Given the description of an element on the screen output the (x, y) to click on. 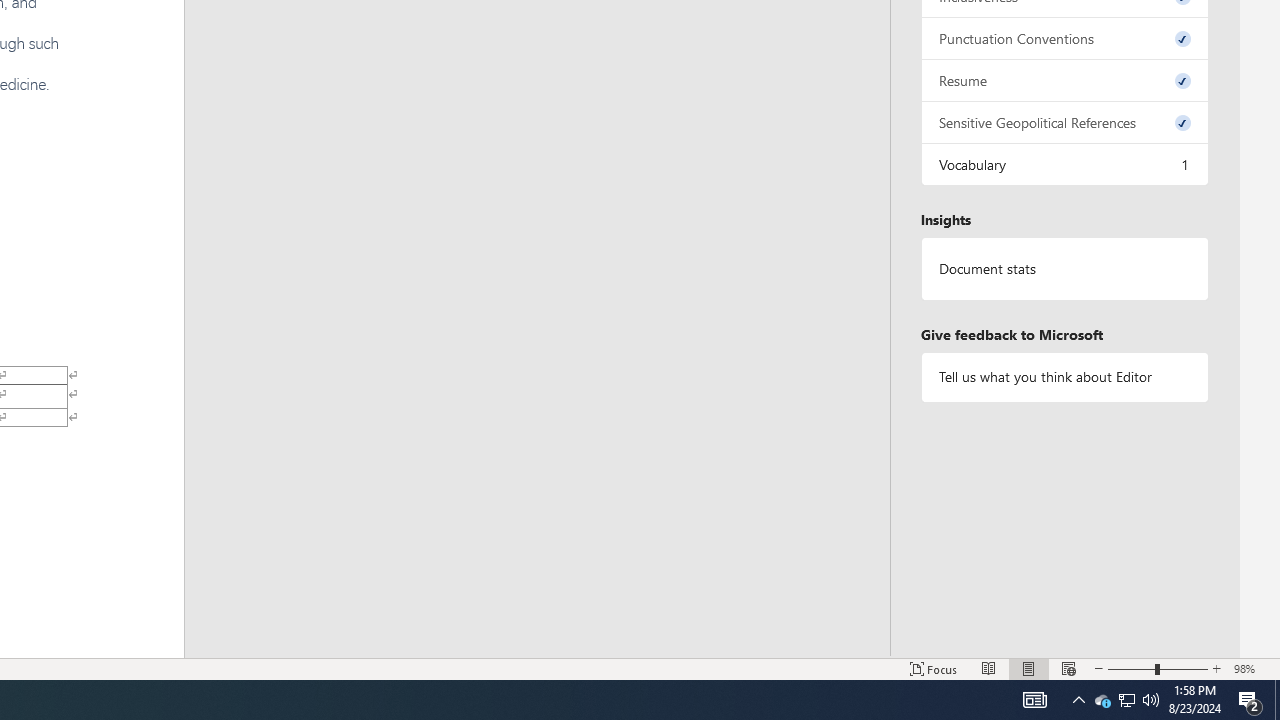
Action Center, 2 new notifications (1250, 699)
Vocabulary, 1 issue. Press space or enter to review items. (1064, 164)
Show desktop (1277, 699)
Document statistics (1064, 269)
Resume, 0 issues. Press space or enter to review items. (1064, 79)
Q2790: 100% (1151, 699)
